Given the description of an element on the screen output the (x, y) to click on. 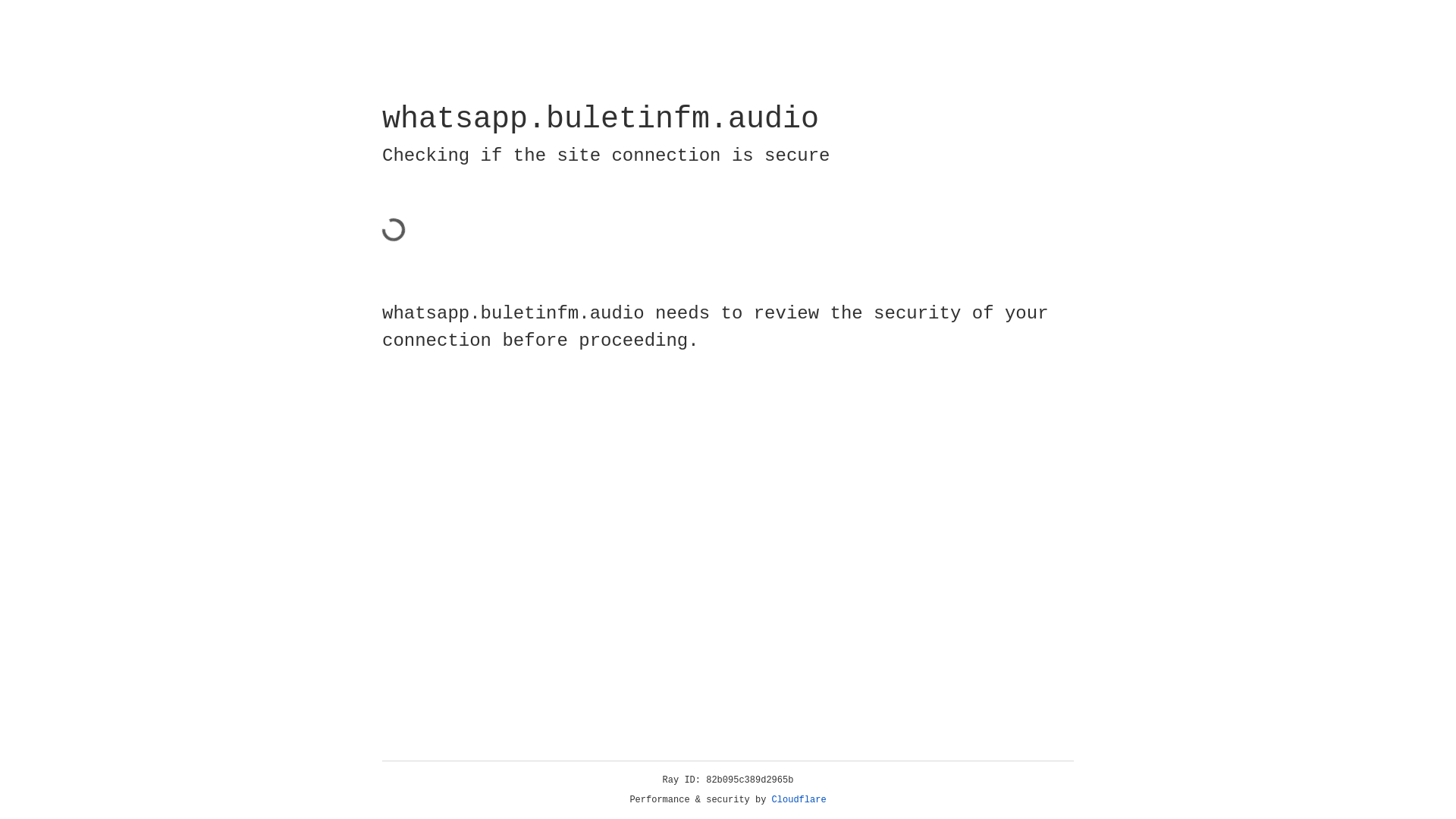
Cloudflare Element type: text (798, 799)
